Given the description of an element on the screen output the (x, y) to click on. 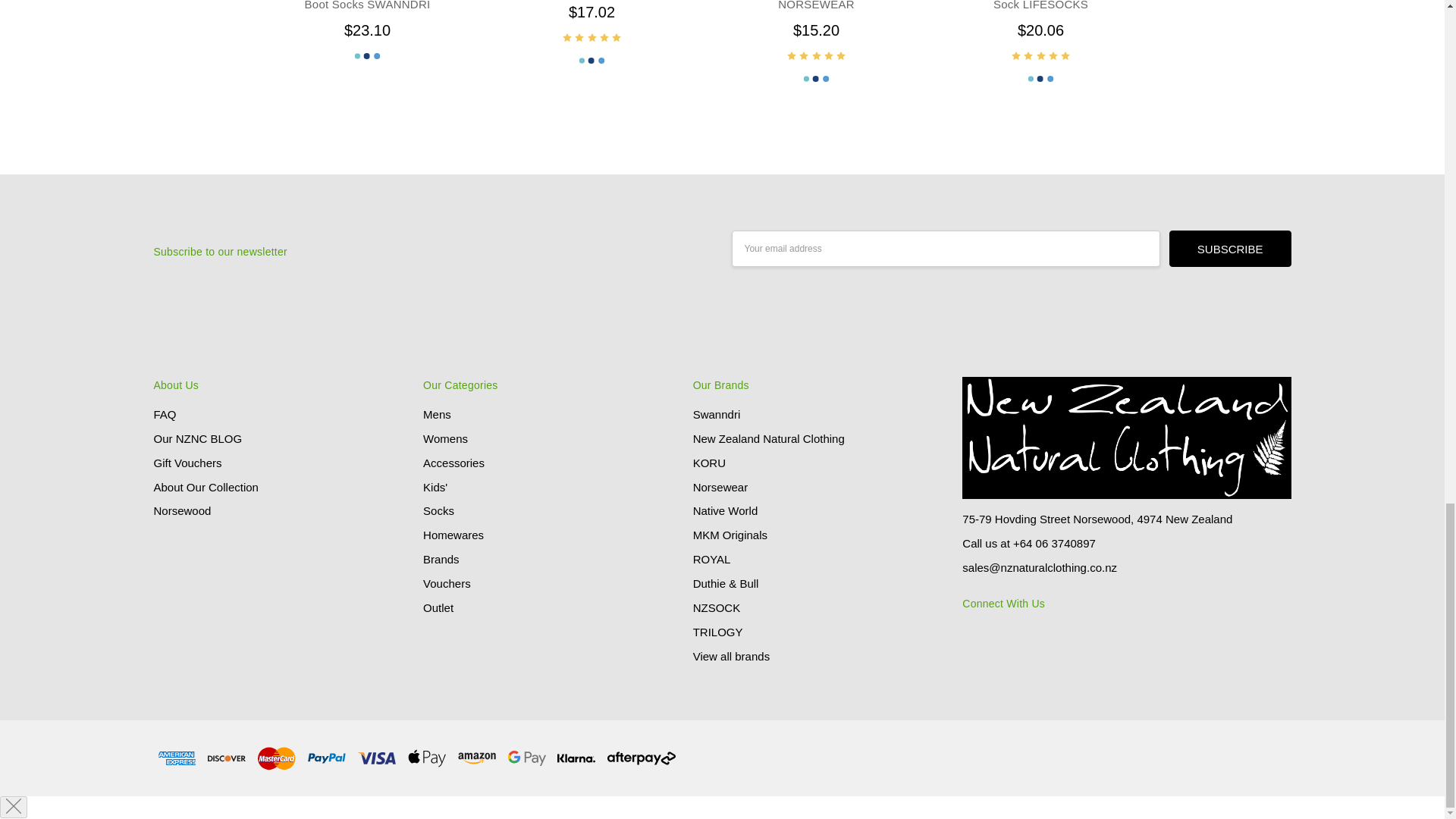
Subscribe (1230, 248)
New Zealand Natural Clothing LTD (1126, 437)
